Given the description of an element on the screen output the (x, y) to click on. 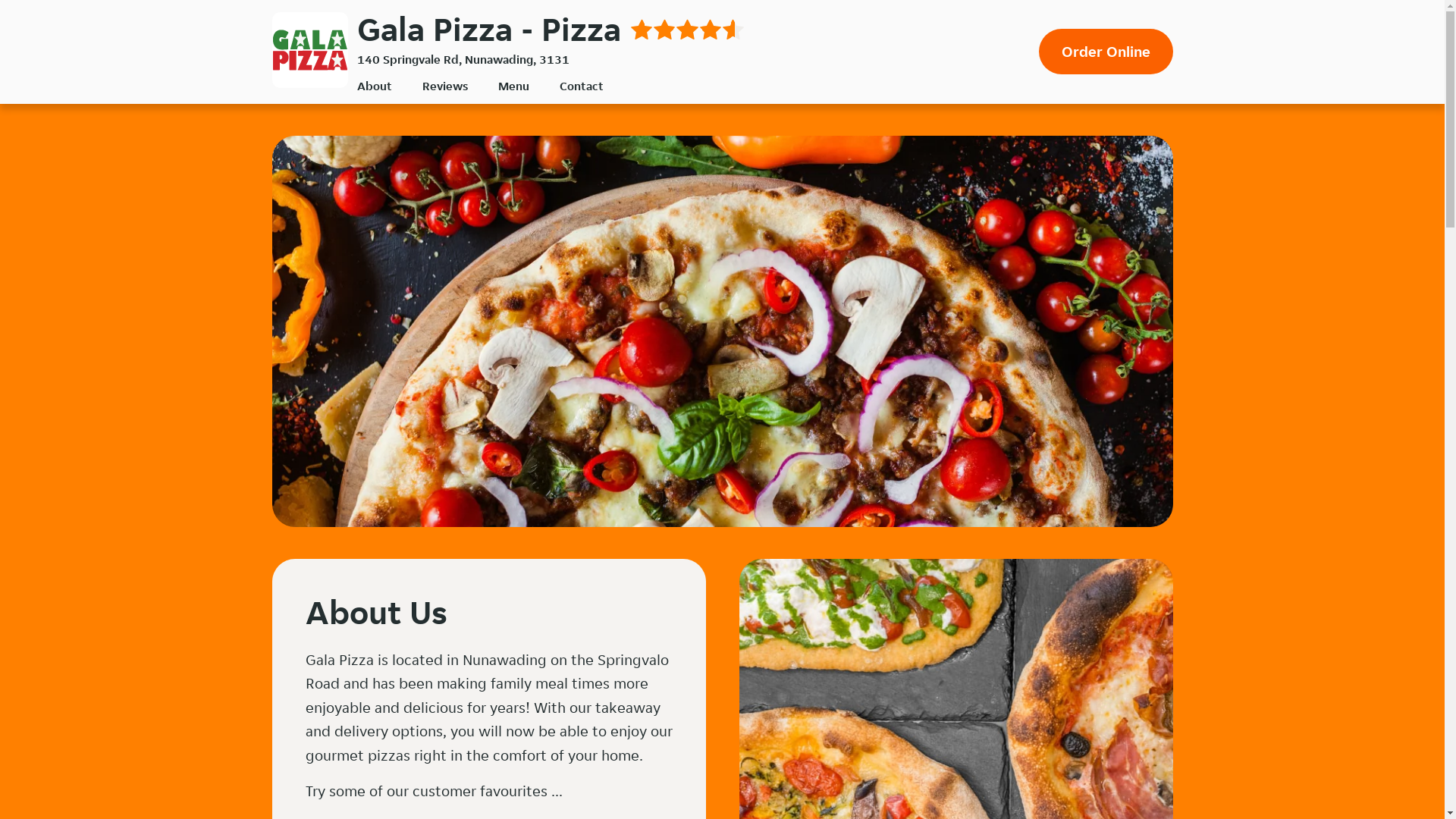
About Element type: text (373, 86)
Gala Pizza Element type: hover (309, 49)
Contact Element type: text (581, 86)
Reviews Element type: text (444, 86)
Order Online Element type: text (1105, 51)
Menu Element type: text (512, 86)
